Given the description of an element on the screen output the (x, y) to click on. 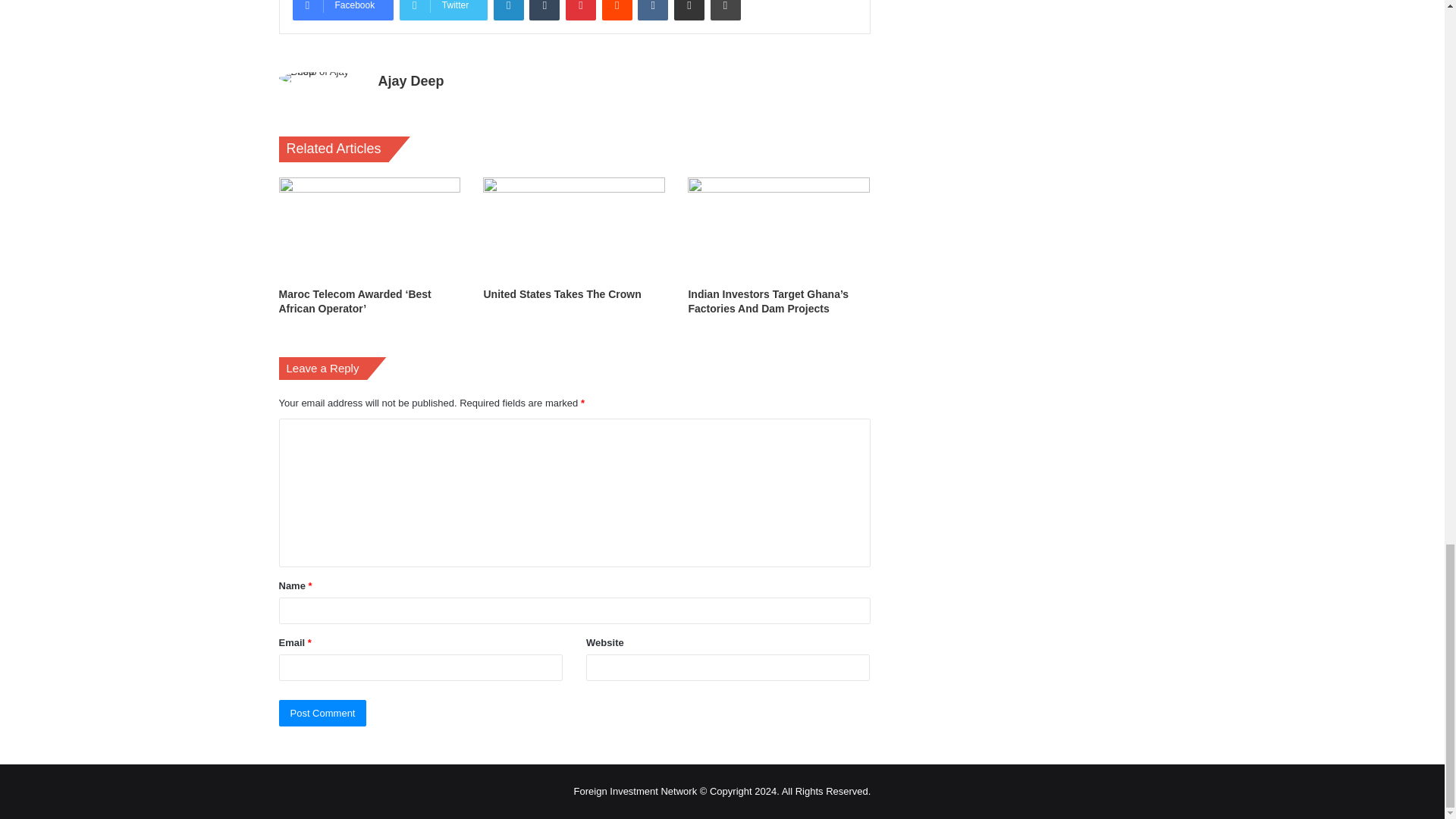
Post Comment (322, 713)
Print (725, 10)
VKontakte (652, 10)
Share via Email (689, 10)
Pinterest (580, 10)
Facebook (343, 10)
Twitter (442, 10)
LinkedIn (508, 10)
Reddit (616, 10)
Tumblr (544, 10)
Twitter (442, 10)
Facebook (343, 10)
